Given the description of an element on the screen output the (x, y) to click on. 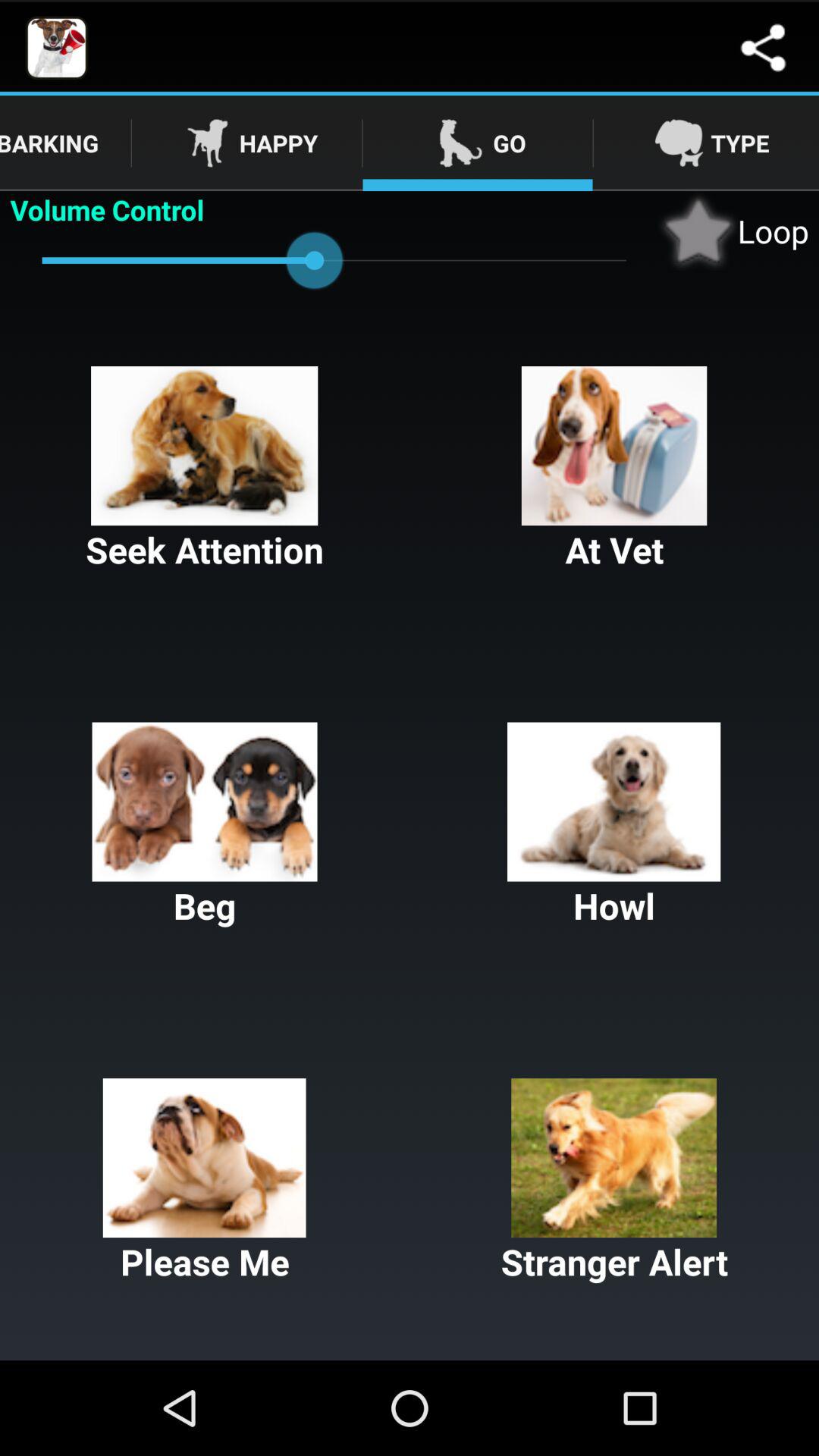
turn on button to the left of the howl item (204, 825)
